Given the description of an element on the screen output the (x, y) to click on. 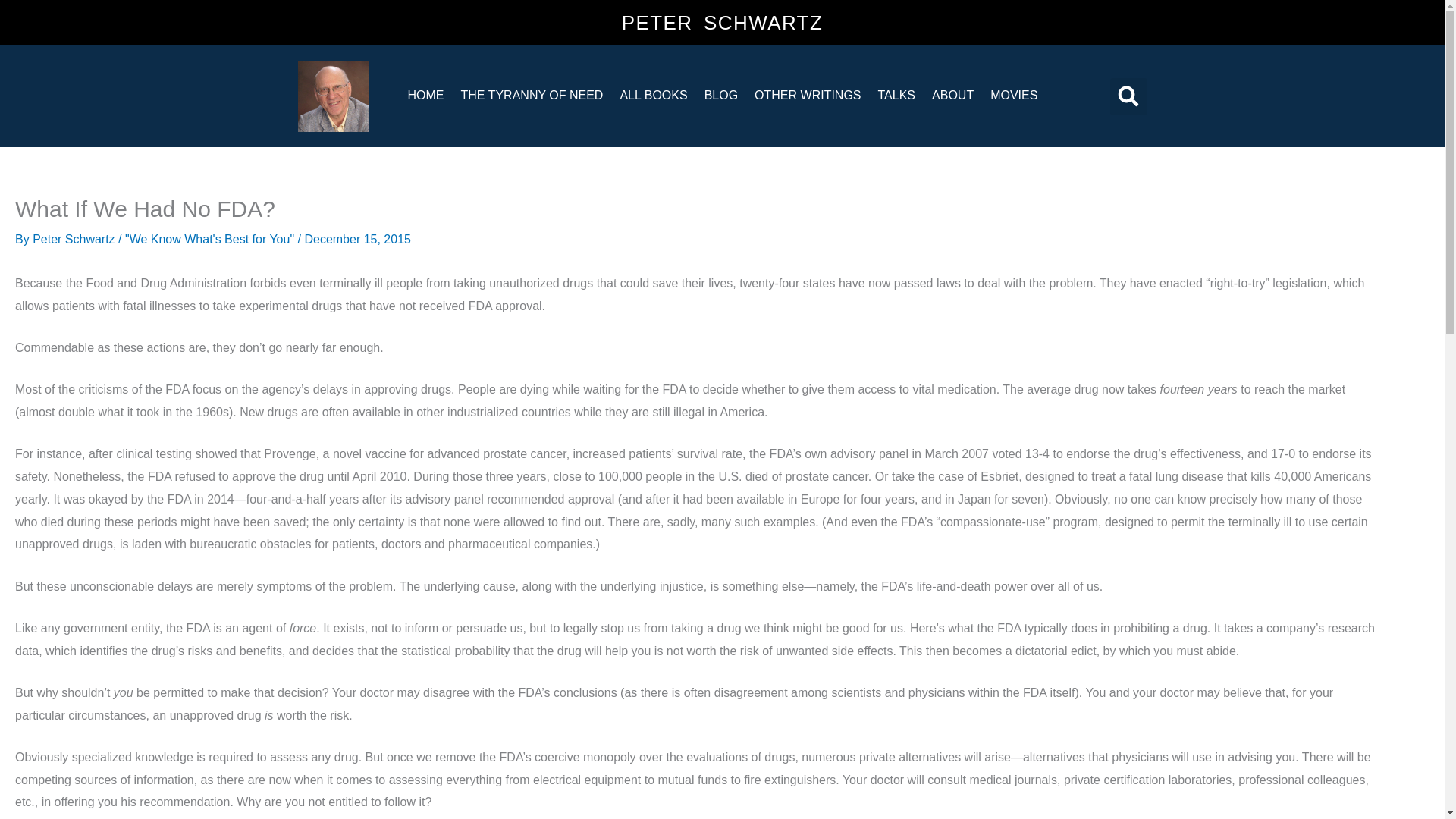
OTHER WRITINGS (807, 94)
THE TYRANNY OF NEED (531, 94)
ABOUT (952, 94)
View all posts by Peter Schwartz (74, 238)
BLOG (720, 94)
MOVIES (1013, 94)
TALKS (896, 94)
"We Know What's Best for You" (209, 238)
Peter Schwartz (74, 238)
ALL BOOKS (653, 94)
